Given the description of an element on the screen output the (x, y) to click on. 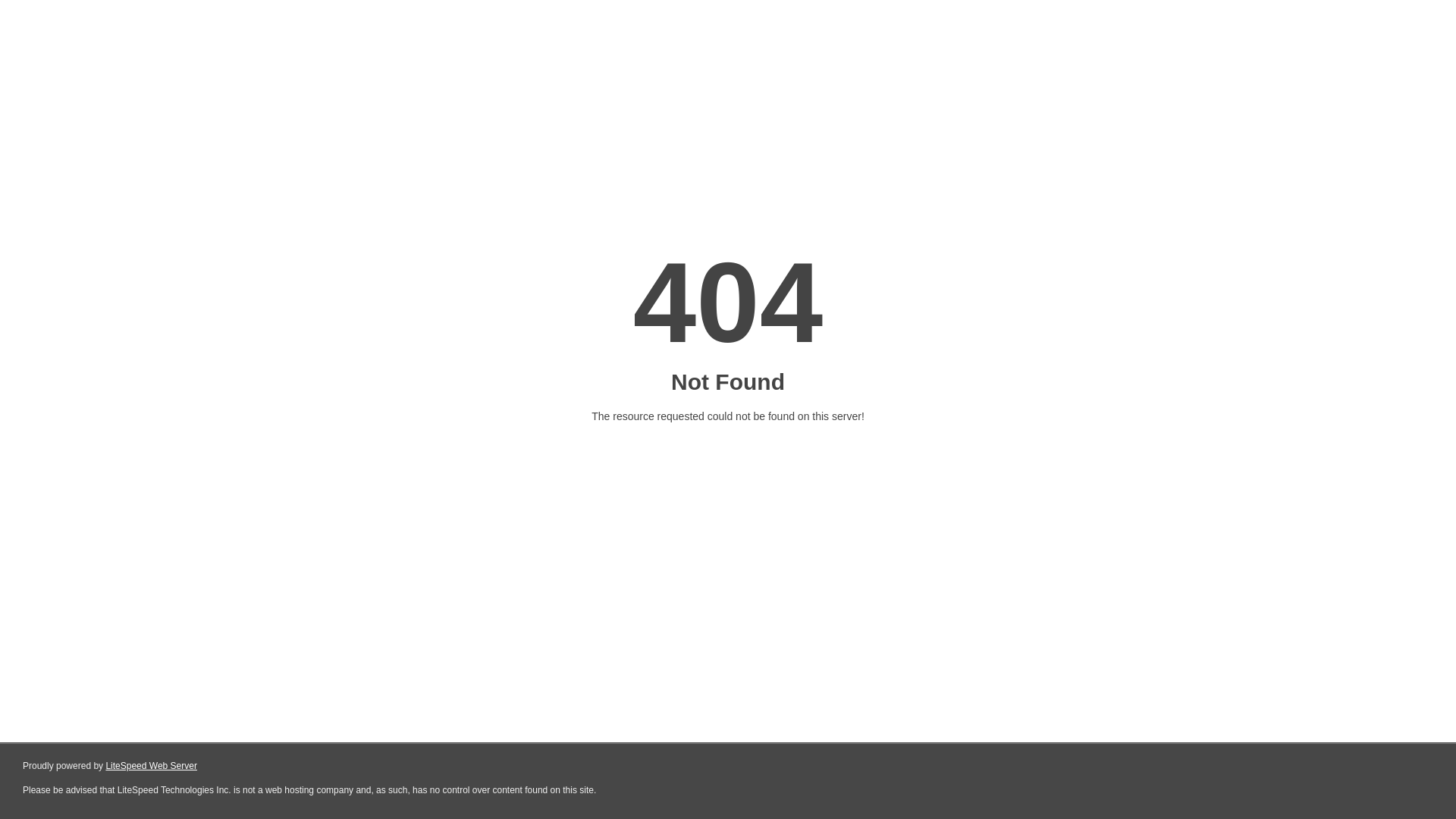
LiteSpeed Web Server Element type: text (151, 765)
